Given the description of an element on the screen output the (x, y) to click on. 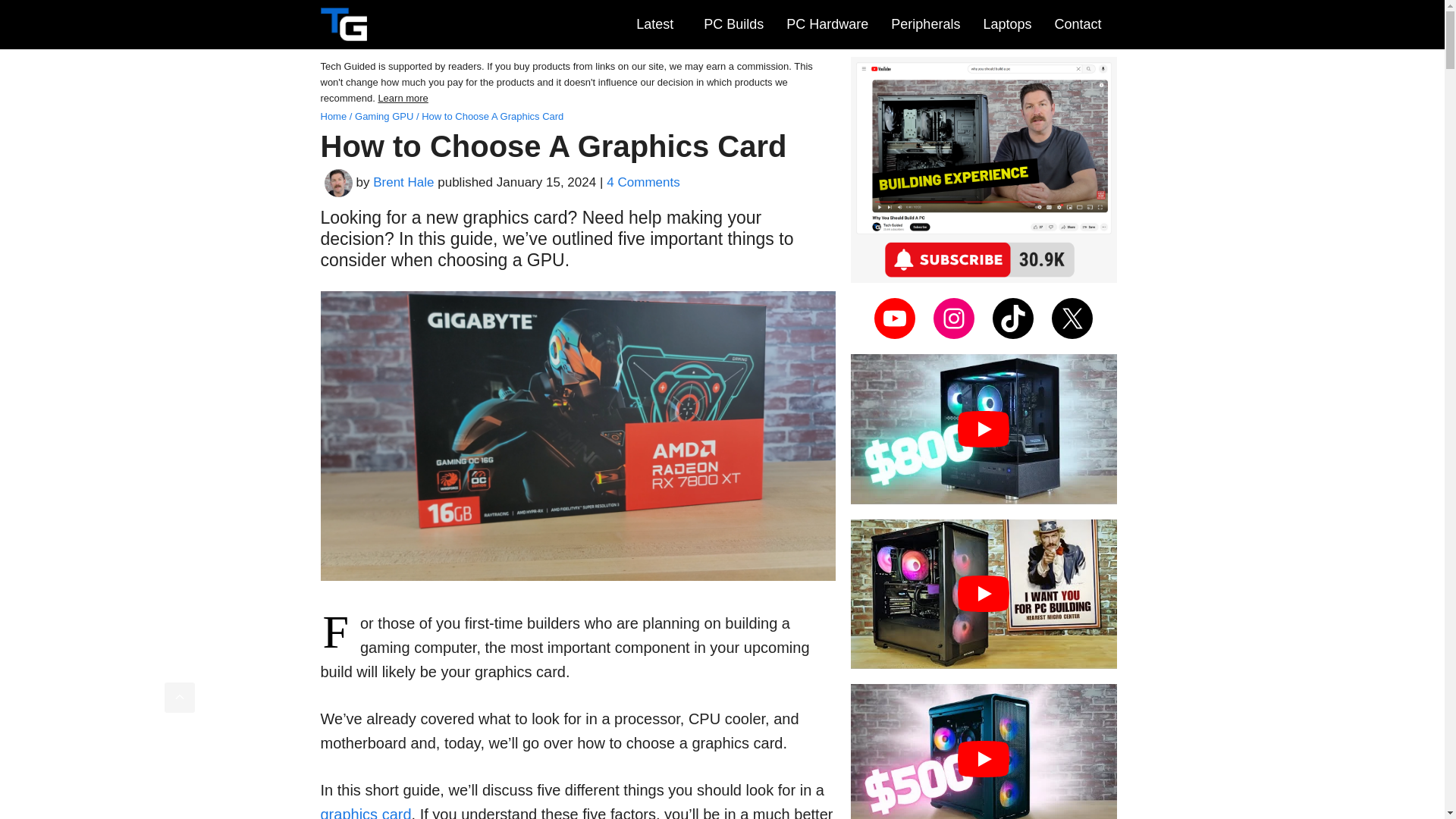
Laptops (1003, 24)
Scroll back to top (179, 697)
PC Builds (729, 24)
View all posts by Brent Hale (402, 182)
PC Hardware (823, 24)
Tech Guided (343, 24)
Contact (1077, 24)
Peripherals (922, 24)
Latest (654, 24)
